Given the description of an element on the screen output the (x, y) to click on. 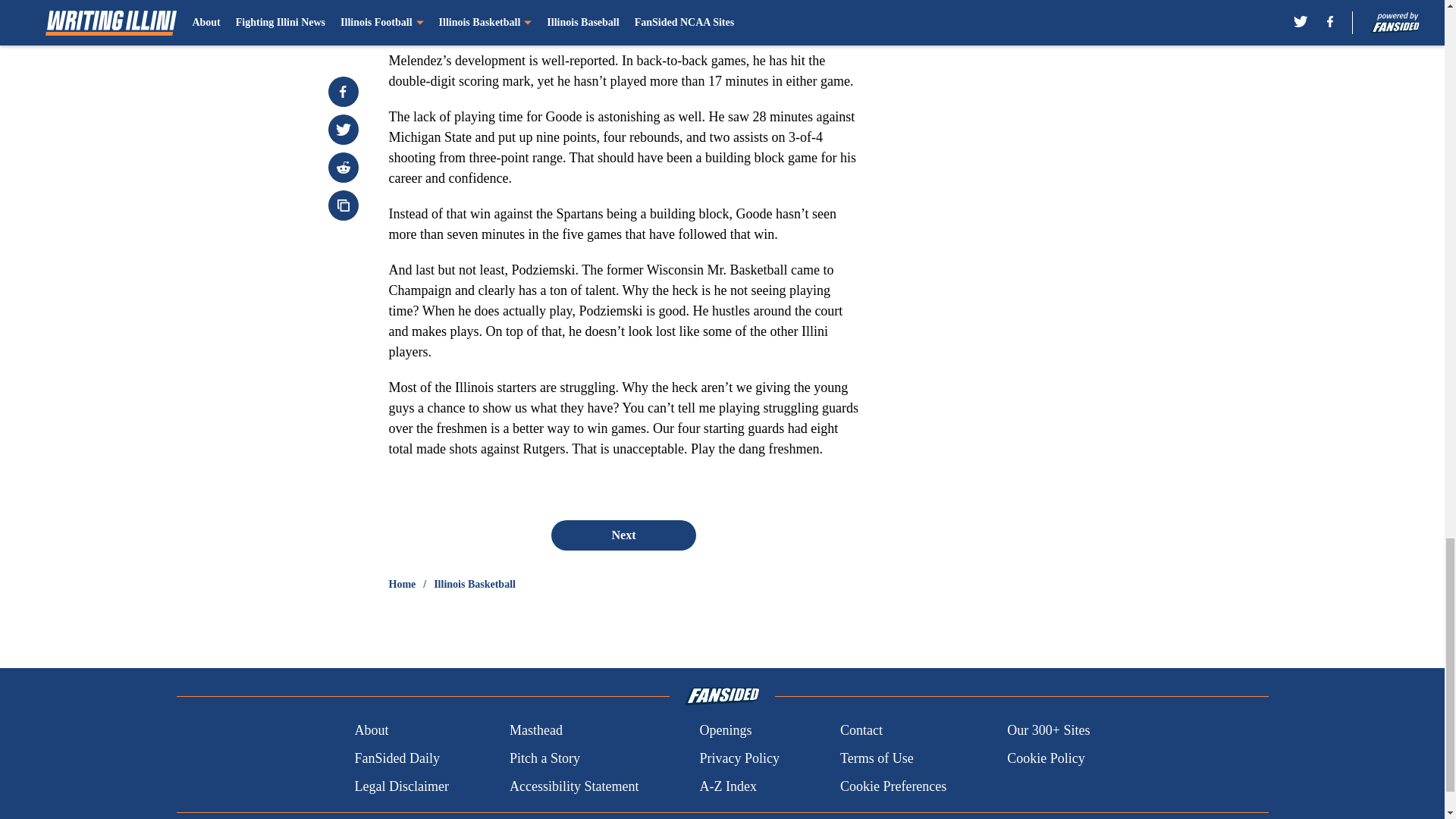
Masthead (535, 730)
Pitch a Story (544, 758)
Legal Disclaimer (400, 786)
Illinois Basketball (474, 584)
Openings (724, 730)
About (370, 730)
Home (401, 584)
Accessibility Statement (574, 786)
Privacy Policy (738, 758)
Cookie Policy (1045, 758)
Contact (861, 730)
Next (622, 535)
Terms of Use (877, 758)
FanSided Daily (396, 758)
